Given the description of an element on the screen output the (x, y) to click on. 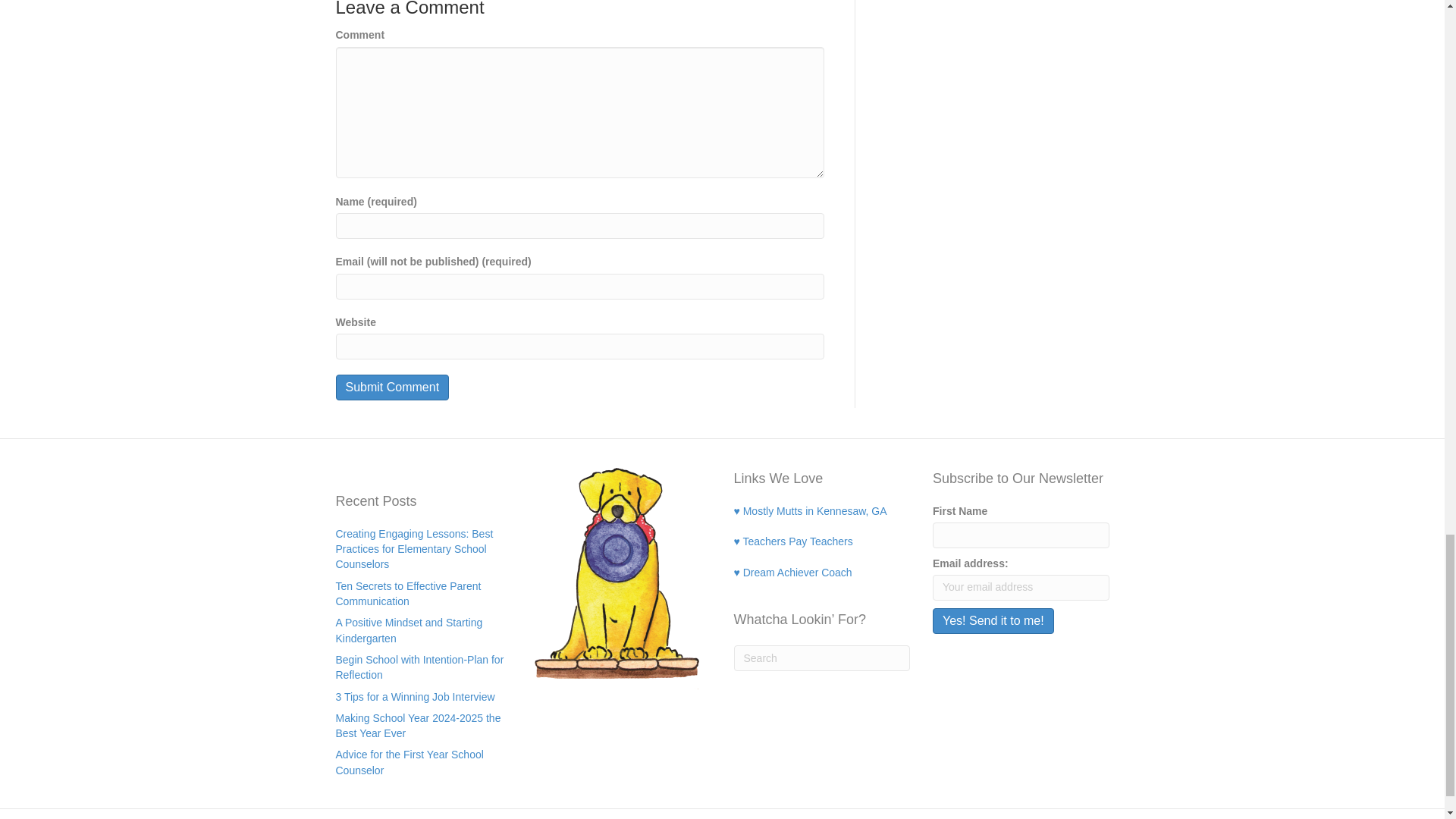
3 Tips for a Winning Job Interview (414, 696)
Yes! Send it to me! (993, 620)
A Positive Mindset and Starting Kindergarten (407, 629)
Begin School with Intention-Plan for Reflection (418, 666)
Submit Comment (391, 386)
Submit Comment (391, 386)
Ten Secrets to Effective Parent Communication (407, 593)
Type and press Enter to search. (822, 657)
